Given the description of an element on the screen output the (x, y) to click on. 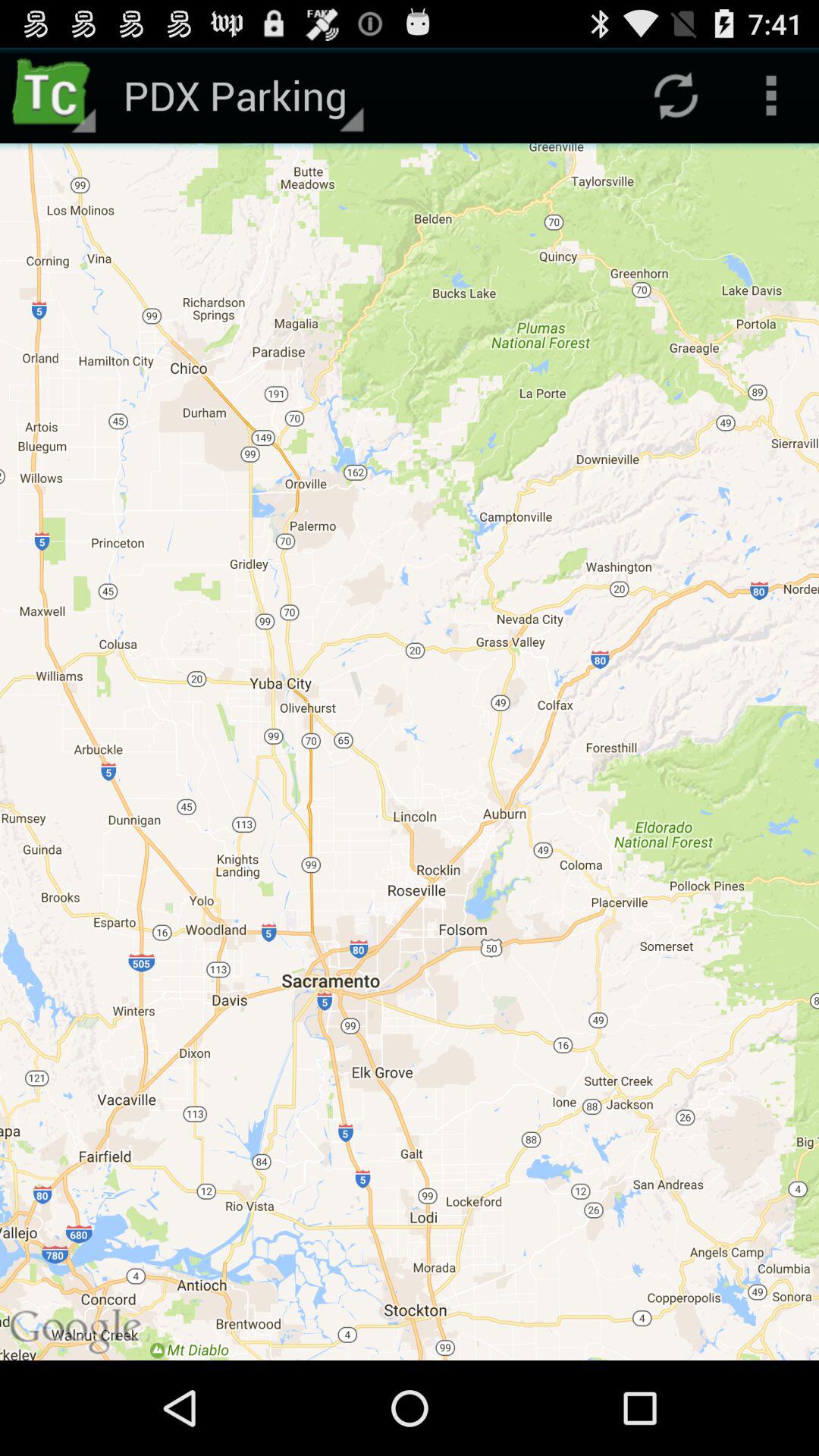
click the item at the center (409, 751)
